Given the description of an element on the screen output the (x, y) to click on. 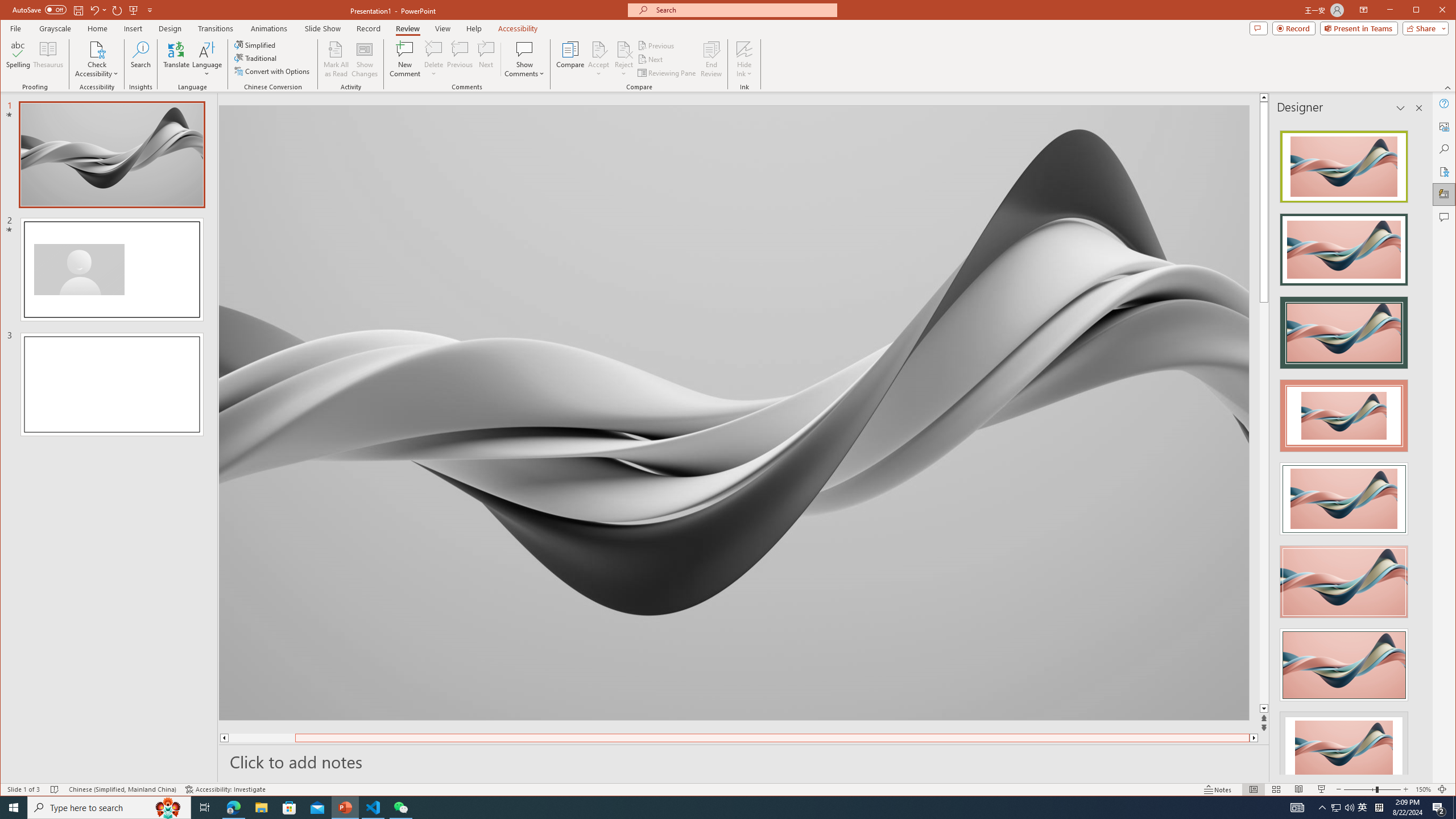
Traditional (256, 57)
Simplified (255, 44)
